Given the description of an element on the screen output the (x, y) to click on. 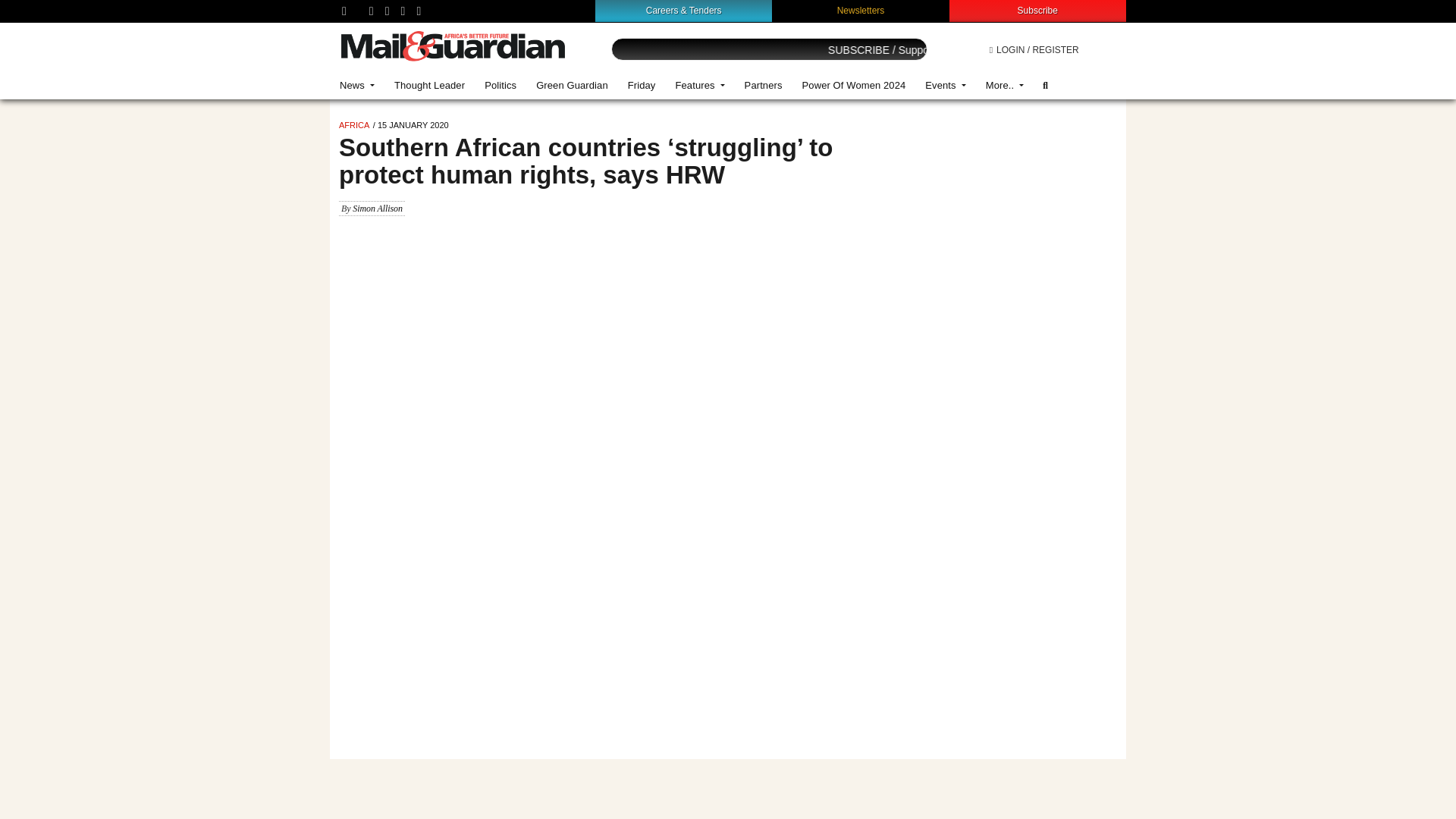
Newsletters (861, 9)
Green Guardian (571, 85)
Subscribe (1037, 9)
Thought Leader (429, 85)
Friday (641, 85)
Politics (499, 85)
News (357, 85)
Features (699, 85)
News (357, 85)
